Given the description of an element on the screen output the (x, y) to click on. 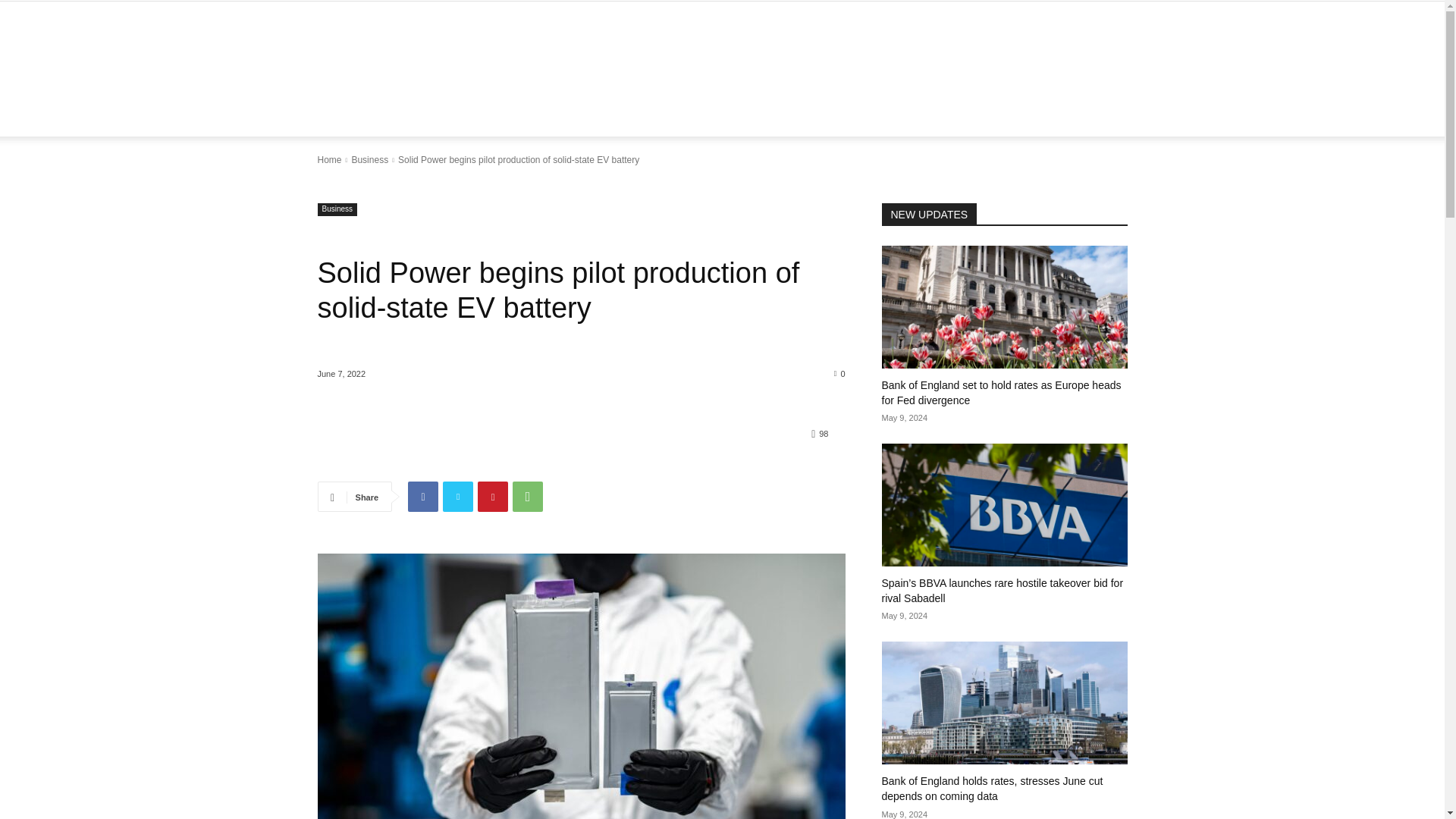
HOME (384, 117)
BUSINESS (719, 117)
Home (328, 159)
0 (839, 372)
EUROPE (441, 117)
Business (336, 209)
PRIVACY POLICY (948, 117)
INVESTING (859, 117)
CONTACT US (1042, 117)
Twitter (457, 496)
POLITICS (788, 117)
Facebook (422, 496)
TECHNOLOGY (638, 117)
Search (1085, 178)
CRYPTO CURRENCY (533, 117)
